Given the description of an element on the screen output the (x, y) to click on. 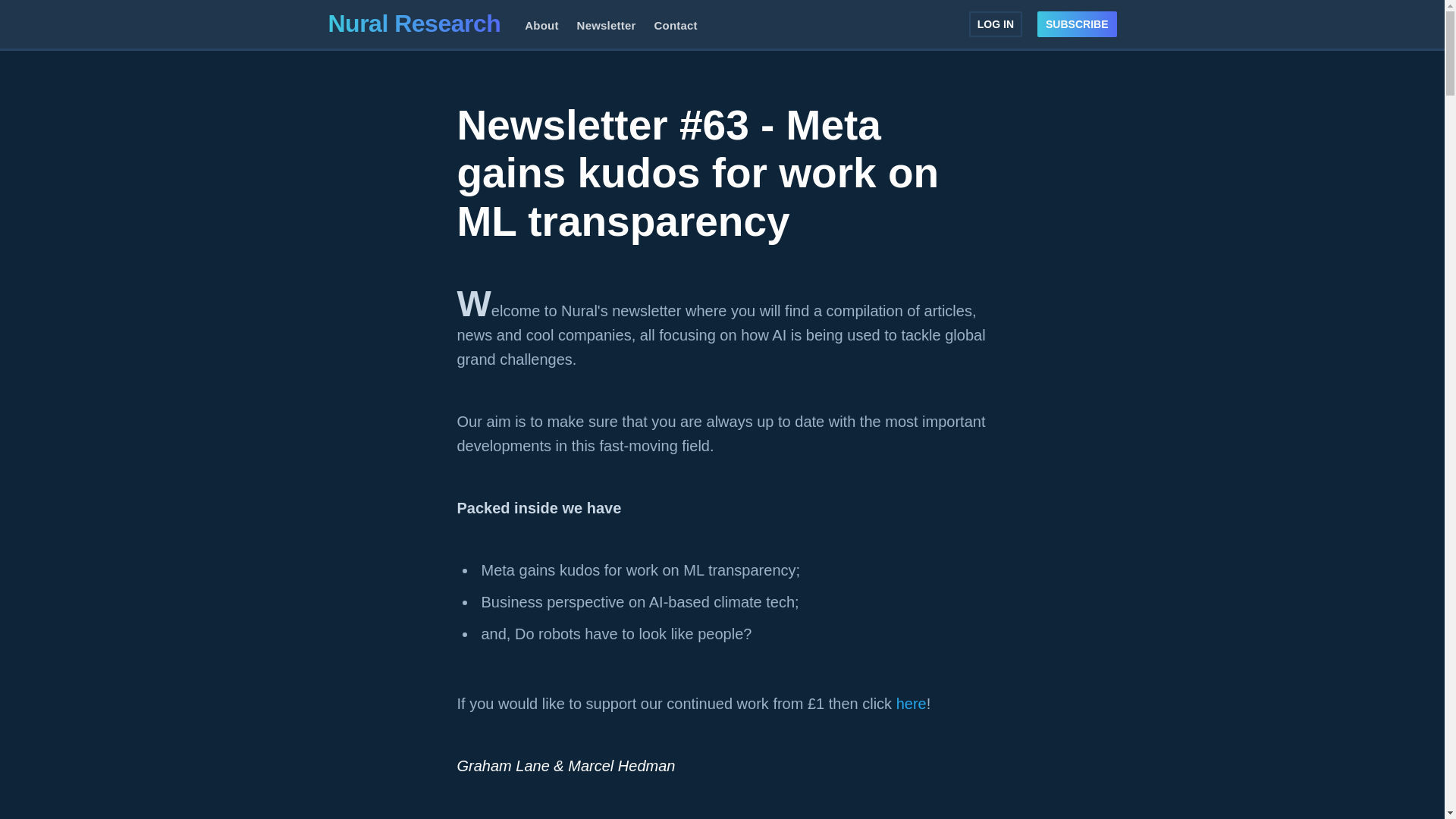
SUBSCRIBE (1076, 23)
About (541, 25)
here (911, 703)
LOG IN (995, 23)
Contact (675, 25)
Newsletter (606, 25)
Nural Research (413, 23)
